Given the description of an element on the screen output the (x, y) to click on. 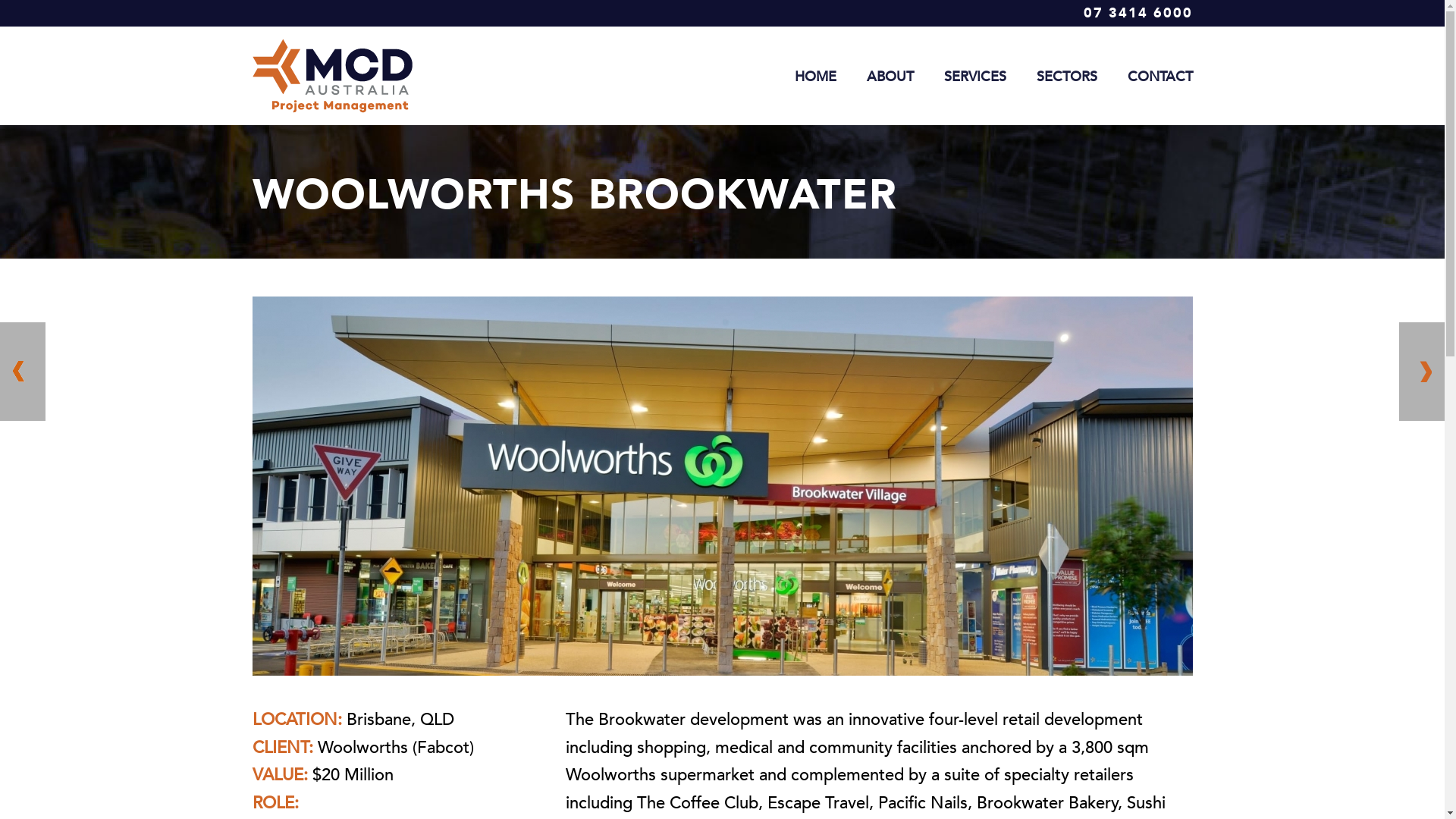
WOOLWORTHS BROOKWATER Element type: hover (721, 485)
SECTORS Element type: text (1065, 75)
ABOUT Element type: text (889, 75)
CONTACT Element type: text (1159, 75)
WOOLWORTHS BROOKWATER Element type: hover (721, 484)
SERVICES Element type: text (974, 75)
07 3414 6000 Element type: text (1137, 13)
HOME Element type: text (815, 75)
